Given the description of an element on the screen output the (x, y) to click on. 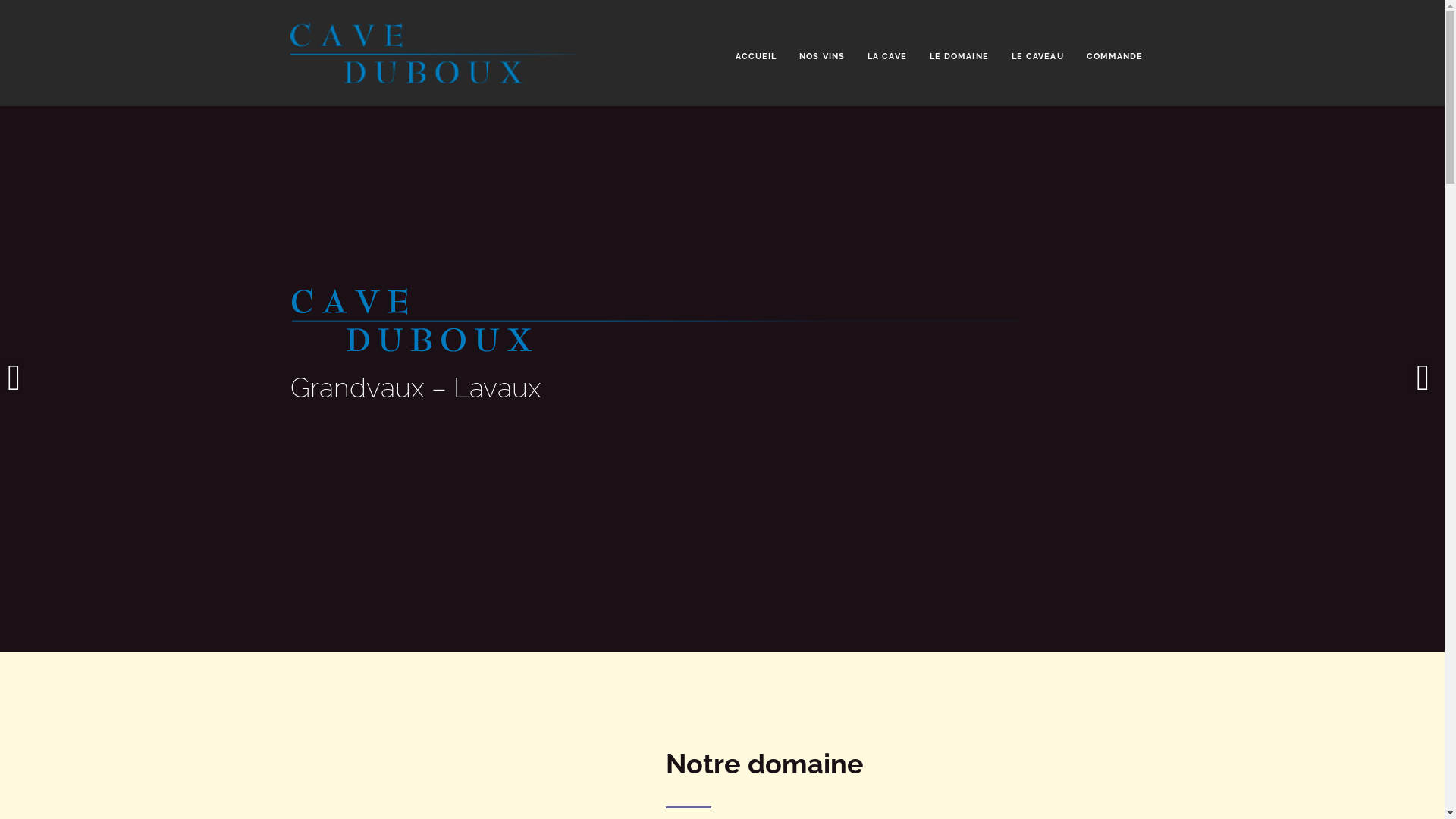
ACCUEIL Element type: text (756, 57)
LA CAVE Element type: text (887, 57)
LE DOMAINE Element type: text (959, 57)
LE CAVEAU Element type: text (1037, 57)
NOS VINS Element type: text (821, 57)
COMMANDE Element type: text (1114, 57)
